Given the description of an element on the screen output the (x, y) to click on. 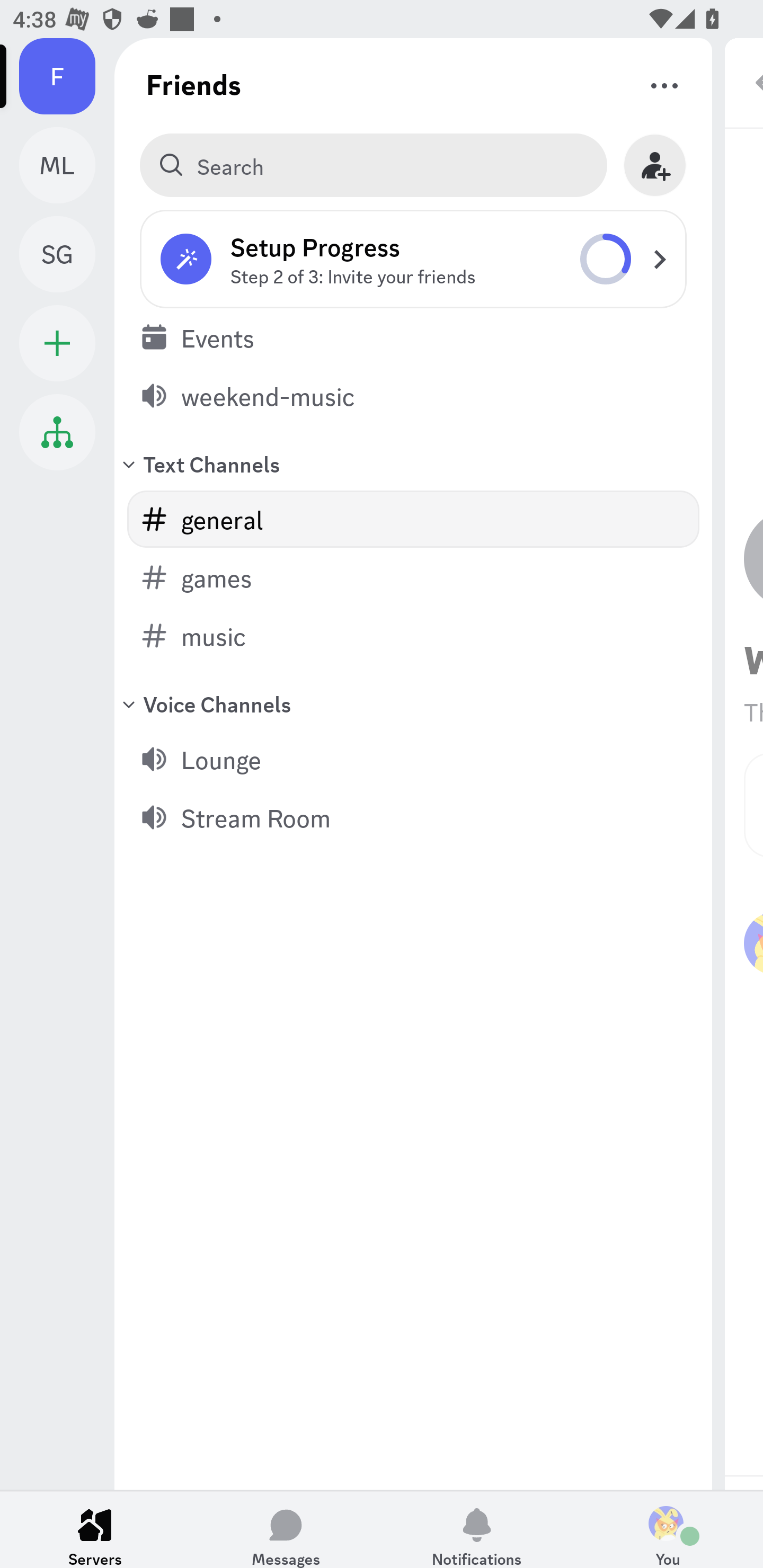
  Friends F (66, 75)
Friends (193, 83)
  Music Lovers ML (66, 165)
Search (373, 165)
Invite (654, 165)
  Study Group SG (66, 253)
Add a Server (57, 343)
Events (413, 336)
Student Hub (57, 431)
Text Channels (412, 462)
general (text channel) general (413, 518)
games (text channel) games (413, 576)
music (text channel) music (413, 635)
Voice Channels (412, 702)
Lounge (voice channel), 0 users Lounge (413, 758)
Stream Room (voice channel), 0 users Stream Room (413, 817)
Servers (95, 1529)
Messages (285, 1529)
Notifications (476, 1529)
You (667, 1529)
